Given the description of an element on the screen output the (x, y) to click on. 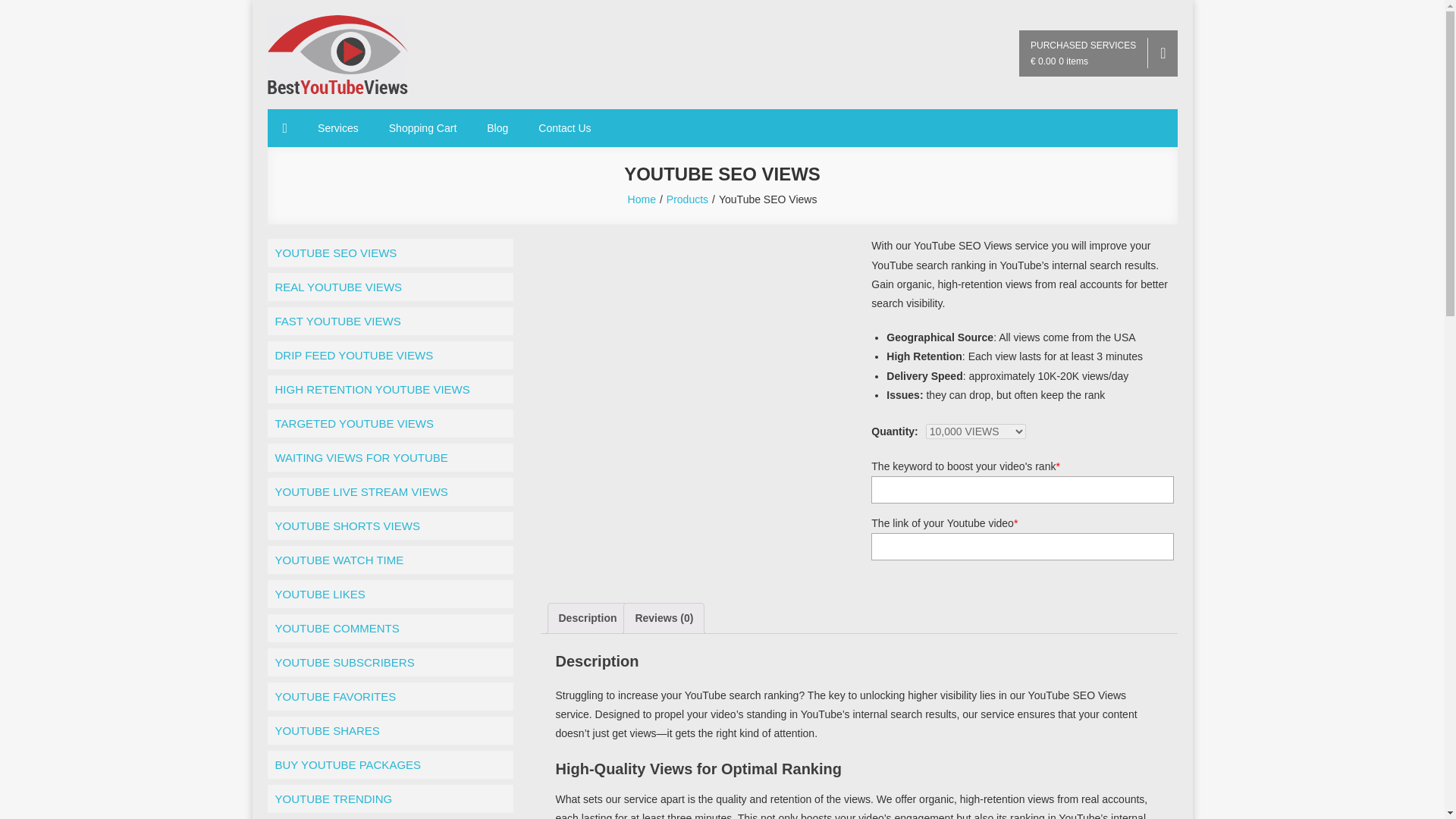
HIGH RETENTION YOUTUBE VIEWS (389, 389)
Mira tu carrito de compras (1097, 53)
YOUTUBE SEO VIEWS (389, 252)
YOUTUBE LIKES (389, 593)
YOUTUBE LIVE STREAM VIEWS (389, 491)
YOUTUBE WATCH TIME (389, 560)
TARGETED YOUTUBE VIEWS (389, 423)
REAL YOUTUBE VIEWS (389, 286)
YOUTUBE SHORTS VIEWS (389, 525)
DRIP FEED YOUTUBE VIEWS (389, 355)
FAST YOUTUBE VIEWS (389, 320)
Services (338, 127)
Description (586, 618)
Contact Us (563, 127)
BestYoutubeViews (388, 110)
